Given the description of an element on the screen output the (x, y) to click on. 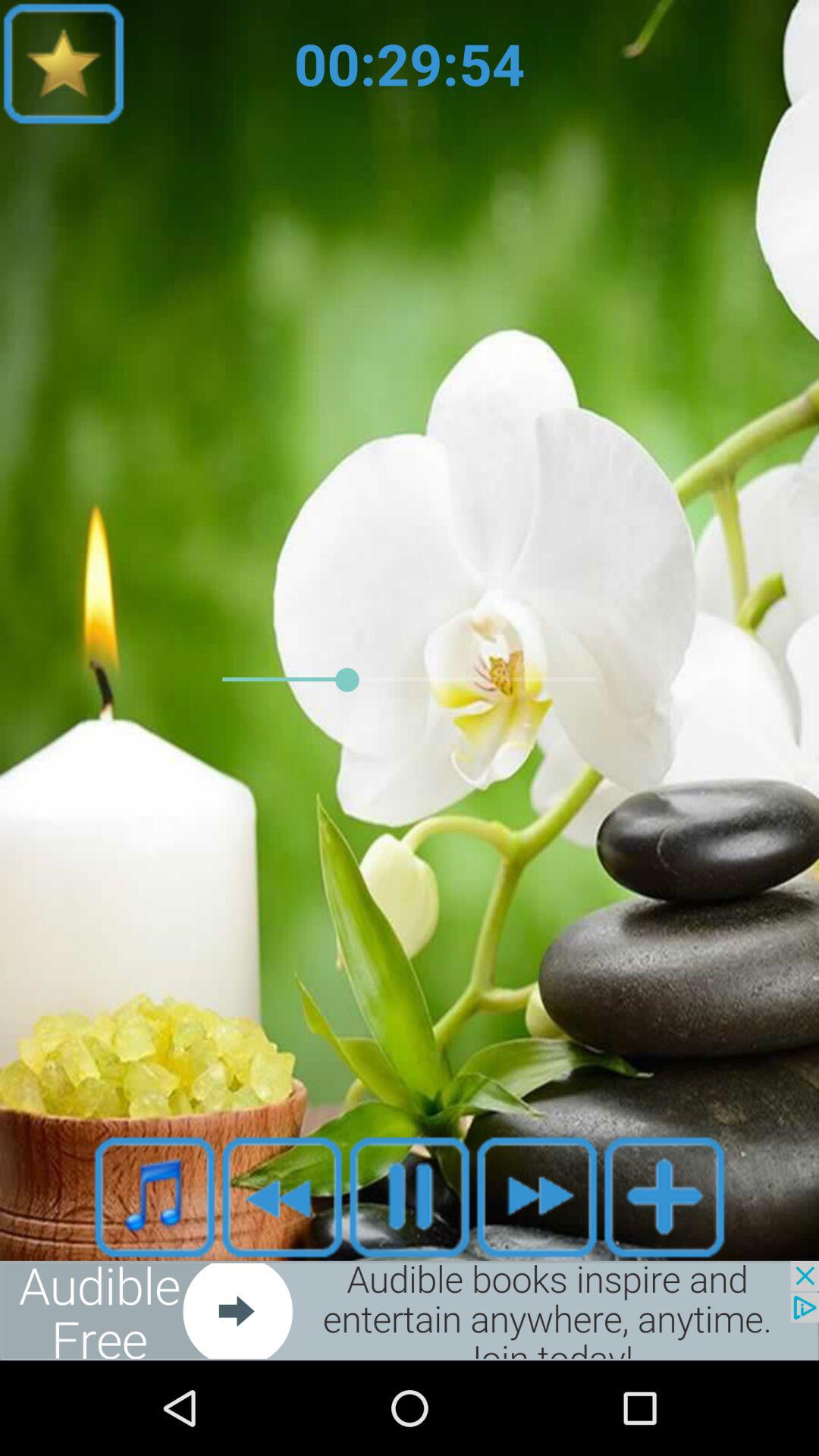
flag it (63, 63)
